Given the description of an element on the screen output the (x, y) to click on. 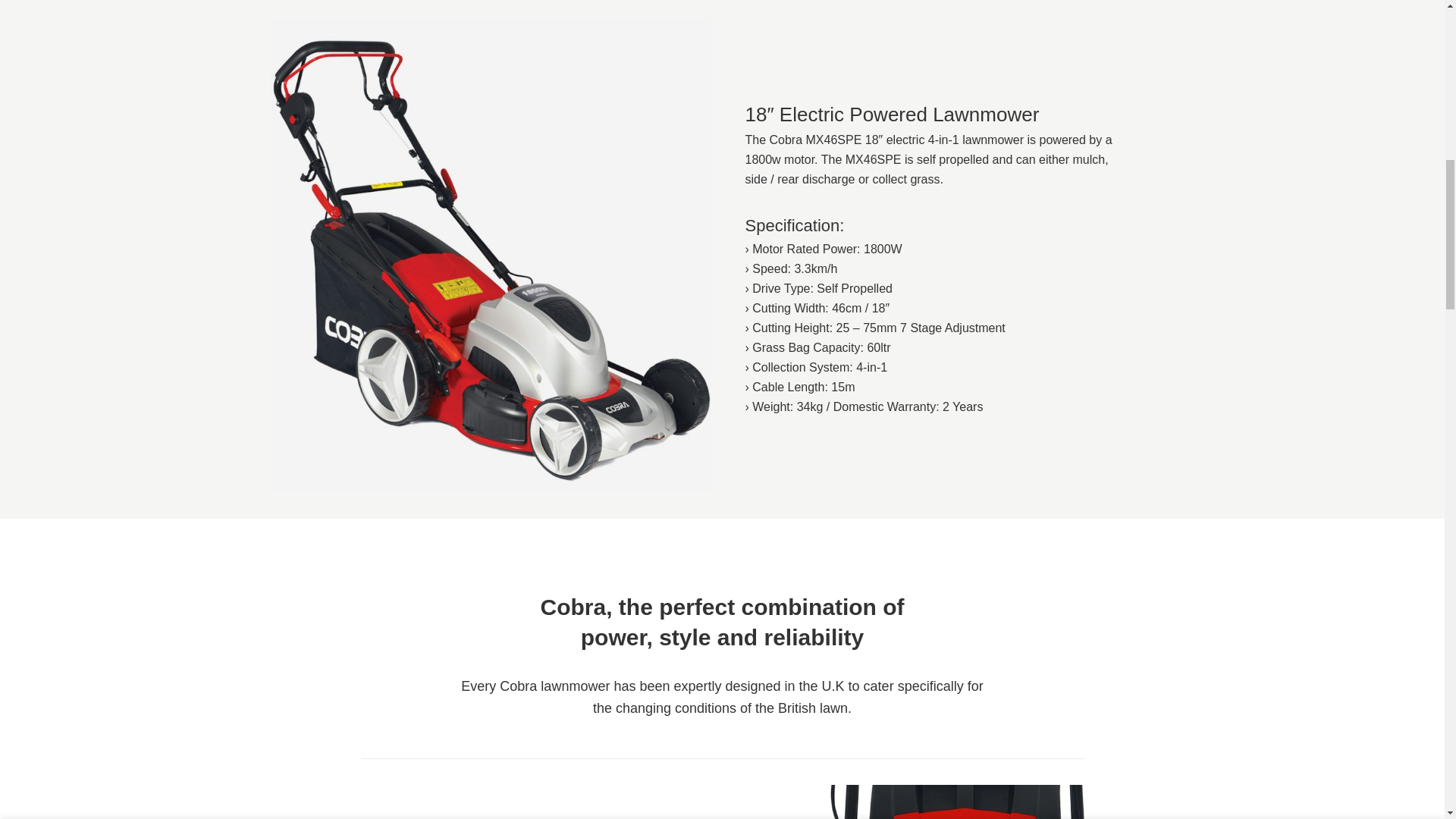
1 (972, 23)
- (951, 23)
